Given the description of an element on the screen output the (x, y) to click on. 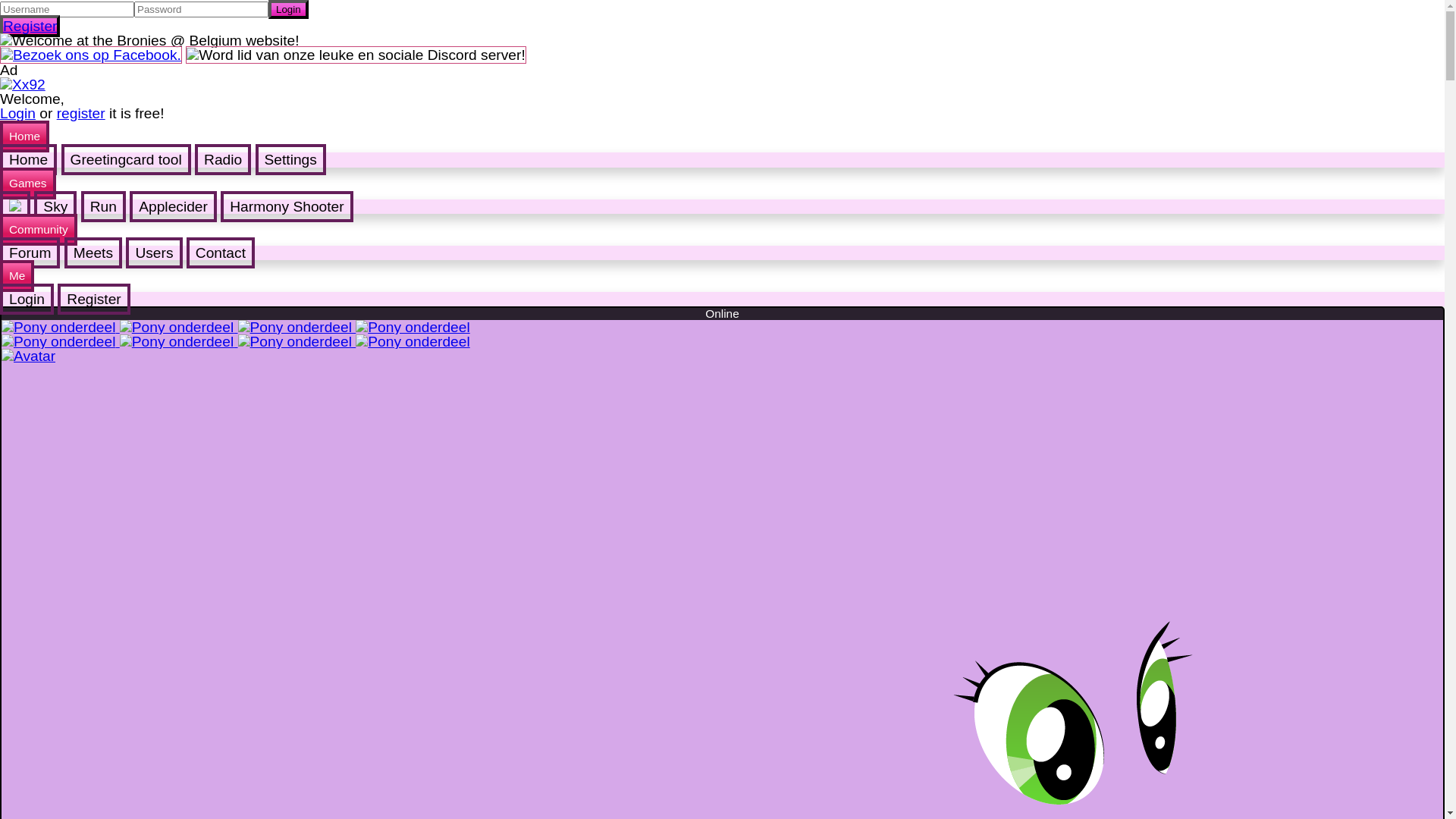
Welcome at the Bronies @ Belgium website! Element type: hover (149, 40)
Run Element type: text (103, 206)
register Element type: text (80, 113)
Contact Element type: text (220, 252)
Greetingcard tool Element type: text (126, 159)
Applecider Element type: text (172, 206)
Login Element type: text (288, 9)
Register Element type: text (93, 298)
Home Element type: text (24, 136)
Sky Element type: text (55, 206)
Me Element type: text (17, 275)
Settings Element type: text (290, 159)
Forum Element type: text (29, 252)
Meets Element type: text (93, 252)
Harmony Shooter Element type: text (286, 206)
Community Element type: text (38, 229)
Login Element type: text (17, 113)
B@B Discord Element type: hover (355, 54)
Login Element type: text (26, 298)
Register Element type: text (29, 26)
Users Element type: text (153, 252)
B@B Facebook Element type: hover (90, 54)
Home Element type: text (28, 159)
Games Element type: text (28, 183)
Radio Element type: text (222, 159)
